Given the description of an element on the screen output the (x, y) to click on. 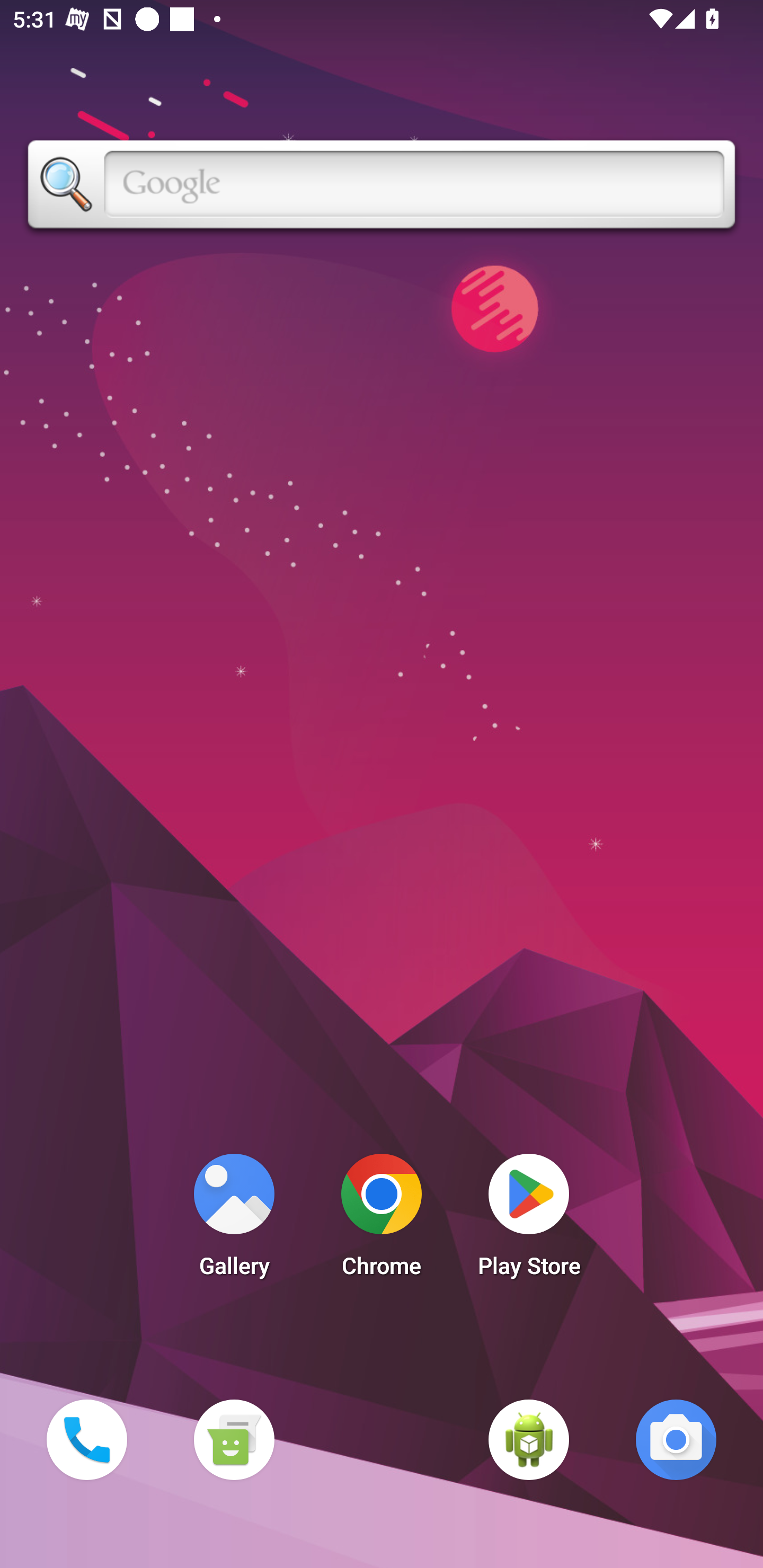
Gallery (233, 1220)
Chrome (381, 1220)
Play Store (528, 1220)
Phone (86, 1439)
Messaging (233, 1439)
WebView Browser Tester (528, 1439)
Camera (676, 1439)
